Given the description of an element on the screen output the (x, y) to click on. 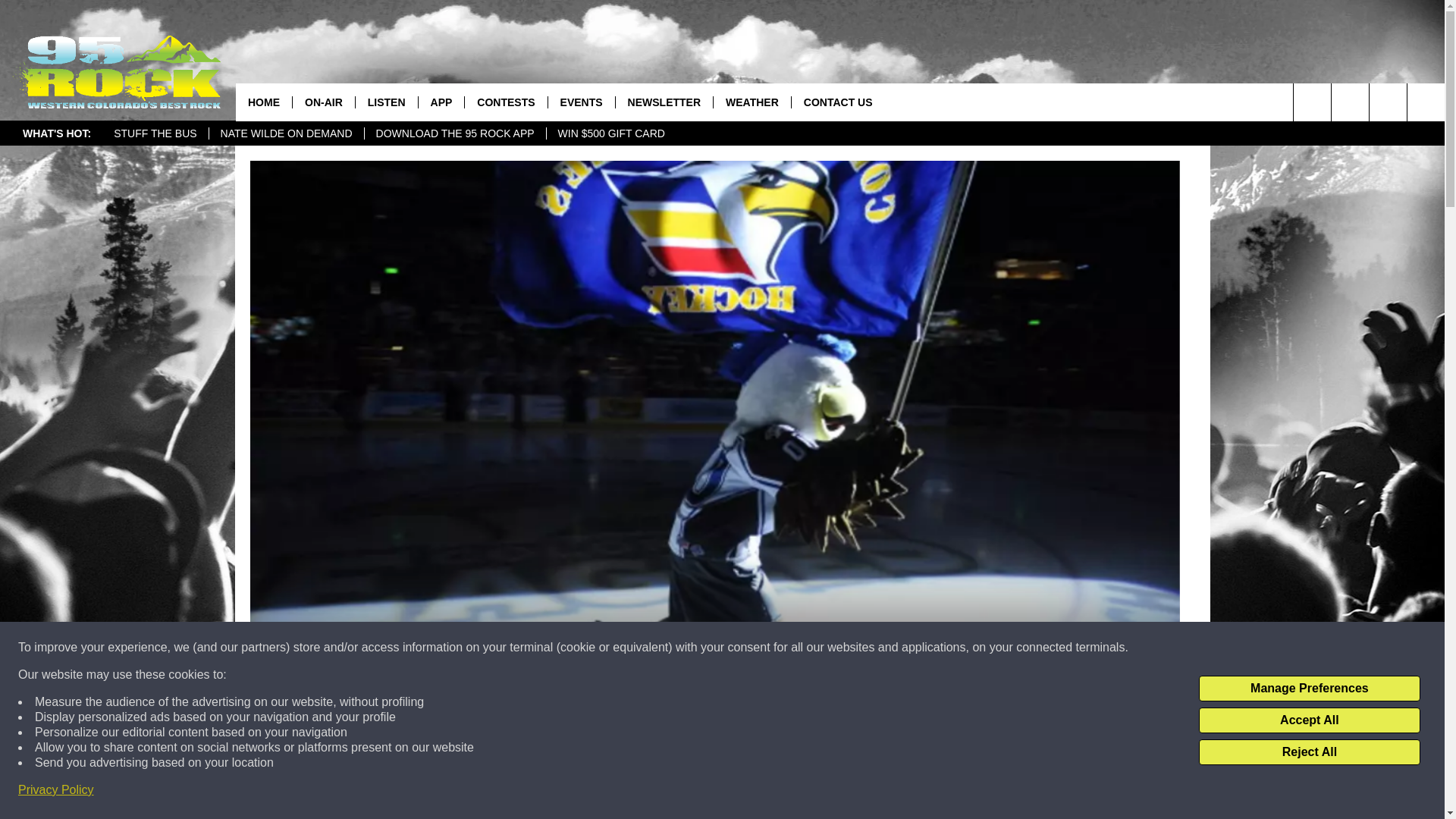
Share on Facebook (517, 791)
NATE WILDE ON DEMAND (286, 133)
LISTEN (386, 102)
Reject All (1309, 751)
ON-AIR (323, 102)
WHAT'S HOT: (56, 133)
Privacy Policy (55, 789)
DOWNLOAD THE 95 ROCK APP (455, 133)
Accept All (1309, 720)
Share on Twitter (912, 791)
CONTESTS (505, 102)
STUFF THE BUS (154, 133)
APP (440, 102)
Manage Preferences (1309, 688)
HOME (263, 102)
